Given the description of an element on the screen output the (x, y) to click on. 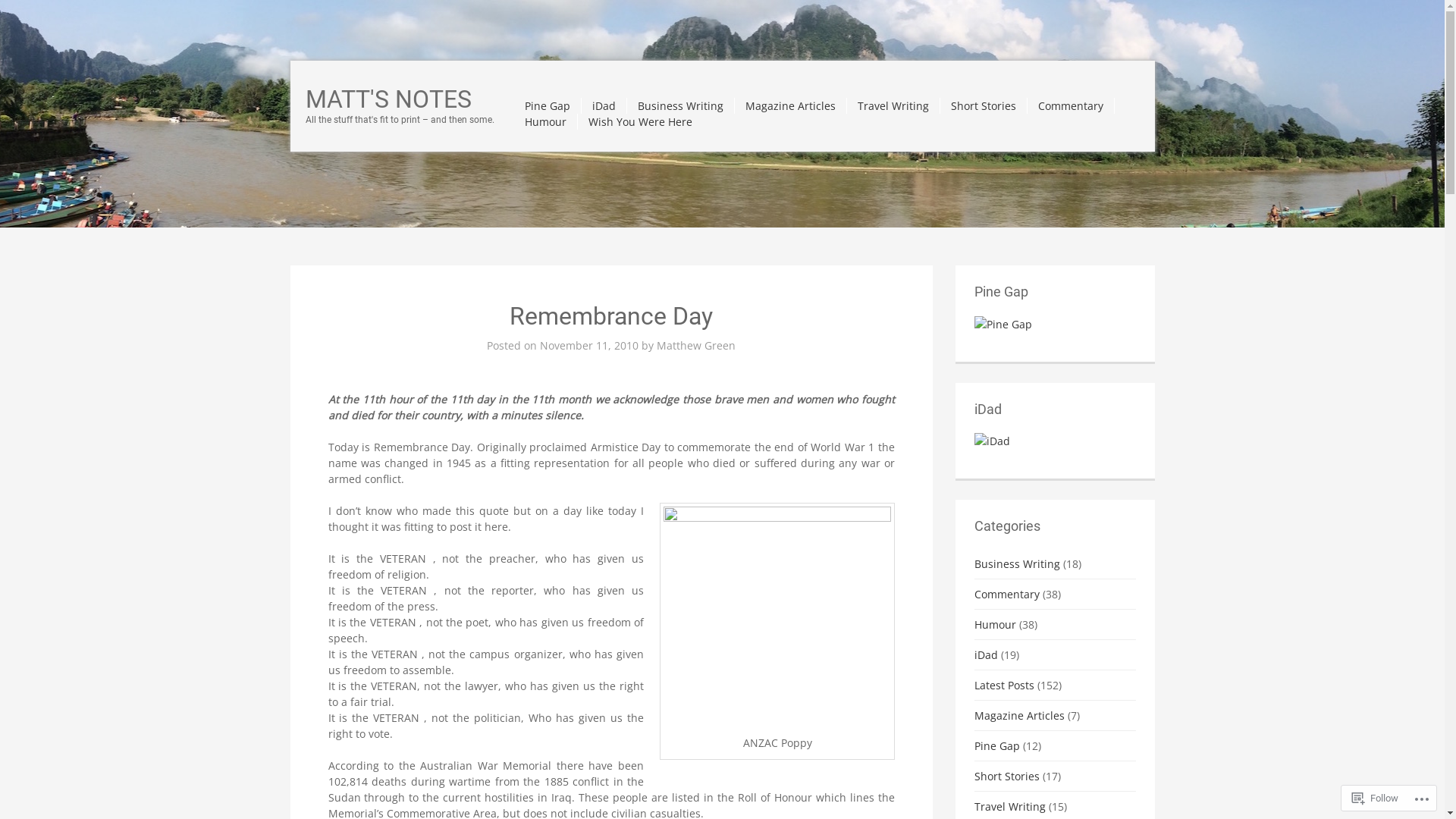
iDad Element type: text (985, 654)
Commentary Element type: text (1006, 593)
Commentary Element type: text (1069, 105)
Pine Gap Element type: hover (1003, 322)
Follow Element type: text (1375, 797)
Business Writing Element type: text (1017, 563)
Travel Writing Element type: text (892, 105)
Magazine Articles Element type: text (1019, 715)
Magazine Articles Element type: text (790, 105)
Short Stories Element type: text (1006, 775)
Humour Element type: text (545, 121)
Humour Element type: text (995, 624)
iDad Element type: text (603, 105)
Latest Posts Element type: text (1004, 684)
iDad Element type: hover (992, 439)
Travel Writing Element type: text (1009, 806)
Pine Gap Element type: text (996, 745)
MATT'S NOTES Element type: text (387, 98)
Short Stories Element type: text (983, 105)
Wish You Were Here Element type: text (639, 121)
Poppy Flower Element type: hover (777, 616)
Matthew Green Element type: text (695, 345)
Pine Gap Element type: text (547, 105)
November 11, 2010 Element type: text (588, 345)
Business Writing Element type: text (680, 105)
